Given the description of an element on the screen output the (x, y) to click on. 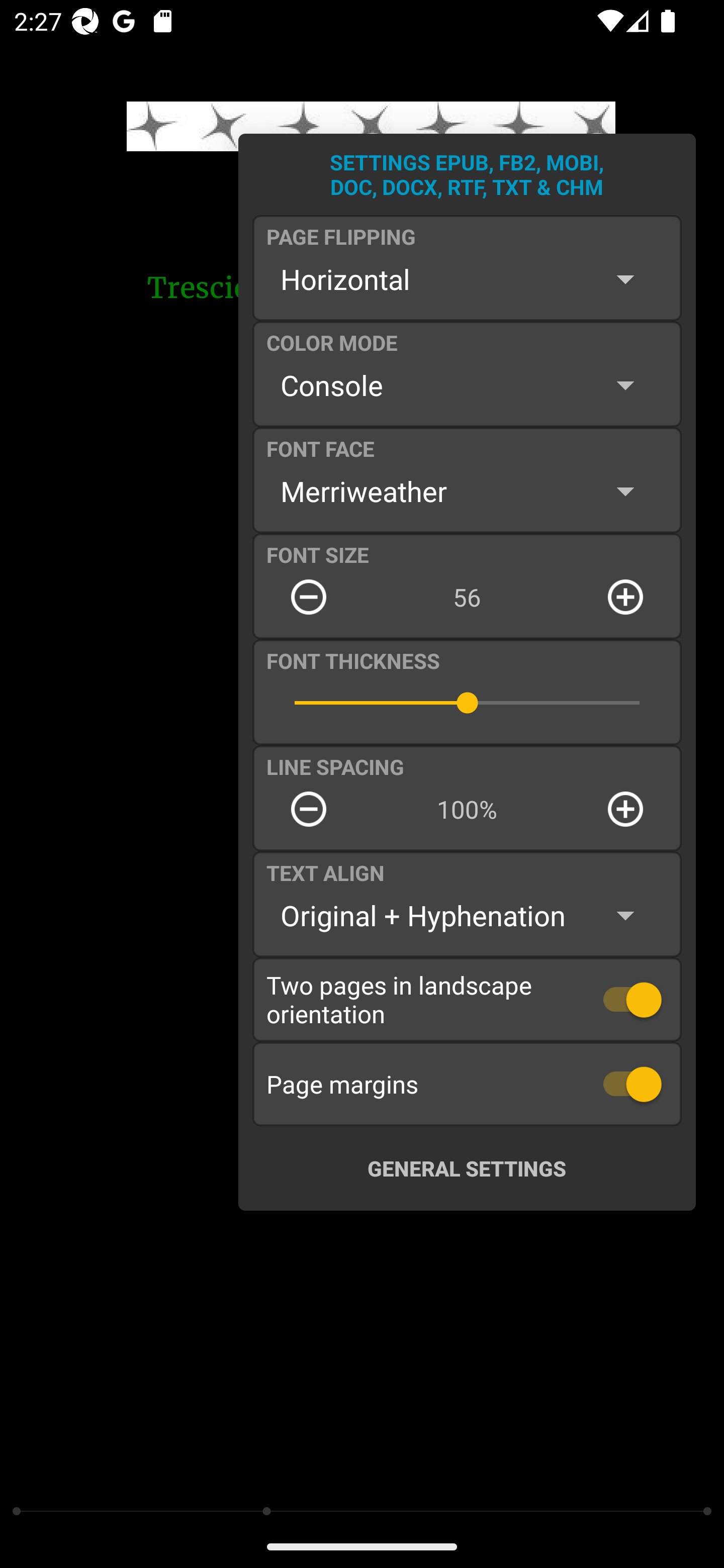
Horizontal (466, 278)
Console (466, 384)
Merriweather (466, 490)
Original + Hyphenation (466, 915)
Two pages in landscape orientation (467, 999)
Page margins (467, 1083)
GENERAL SETTINGS (466, 1167)
